Given the description of an element on the screen output the (x, y) to click on. 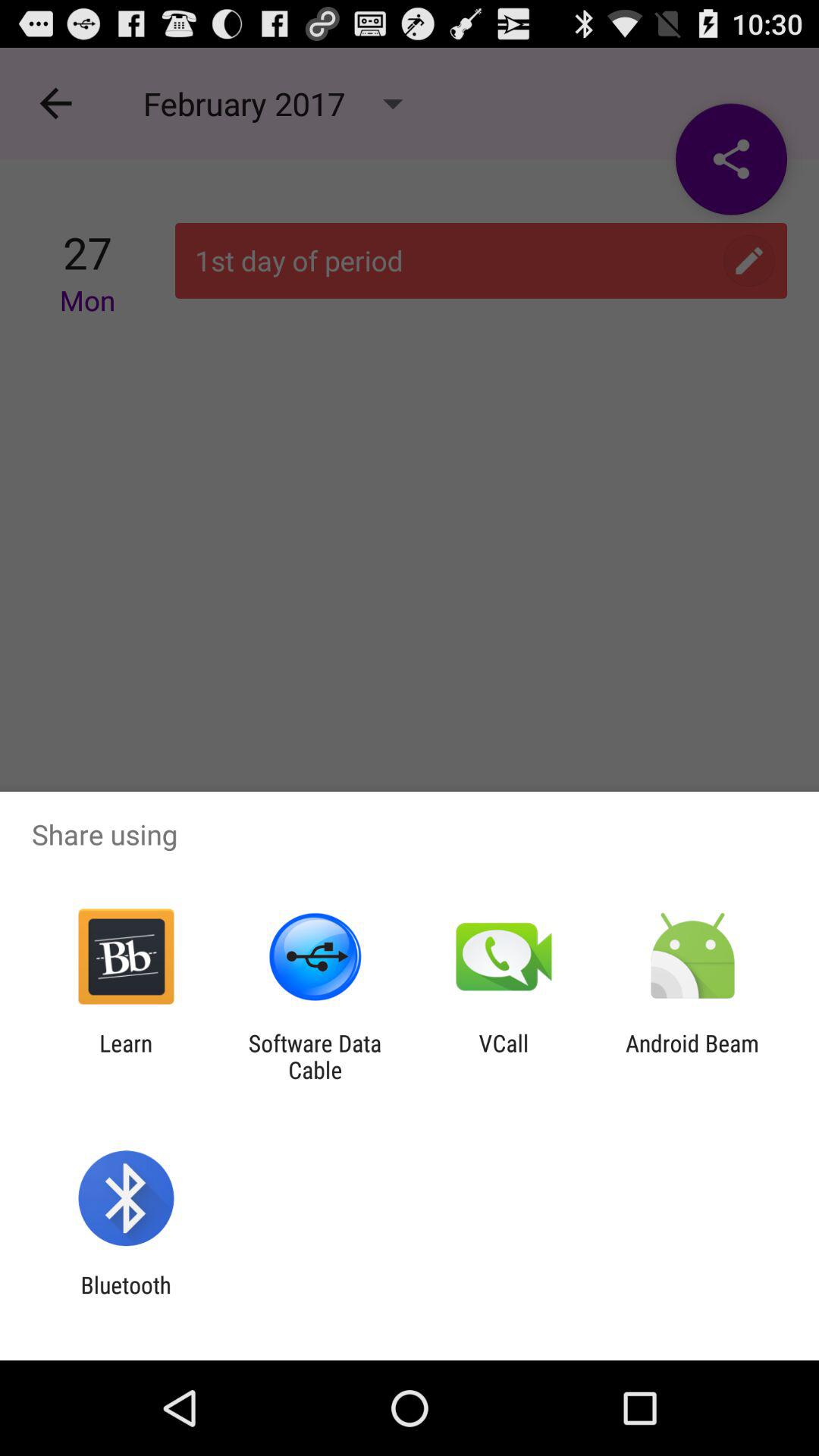
launch the icon next to the software data cable icon (503, 1056)
